Given the description of an element on the screen output the (x, y) to click on. 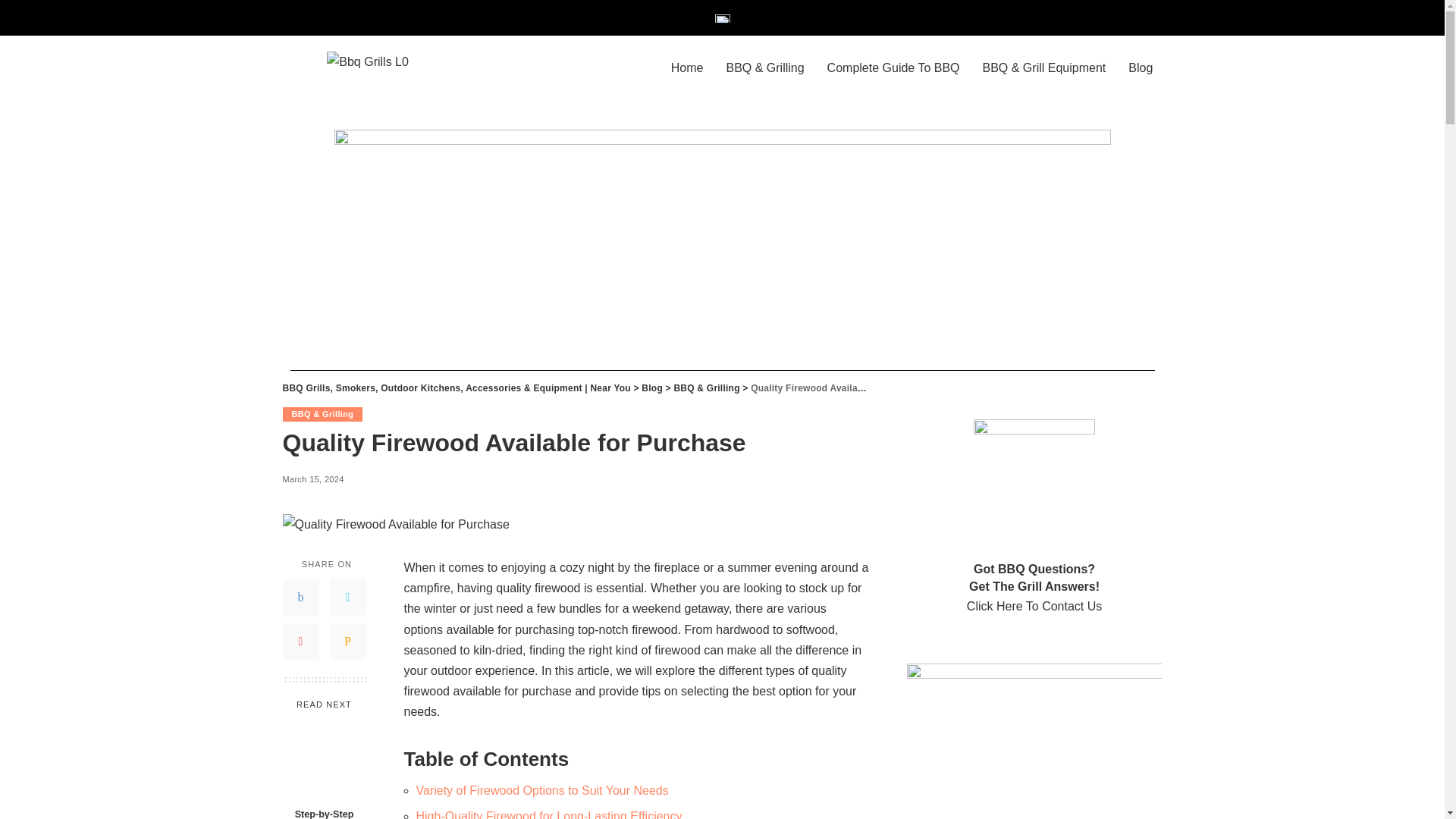
Step-by-Step Guide: Building Your Own Smoker Grill (323, 813)
Blog (652, 388)
2024-03-15T21:23:26-04:00 (312, 479)
Email (347, 641)
Go to Blog. (652, 388)
Pinterest (300, 641)
Blog (1139, 67)
Twitter (347, 597)
Facebook (300, 597)
Home (686, 67)
